Given the description of an element on the screen output the (x, y) to click on. 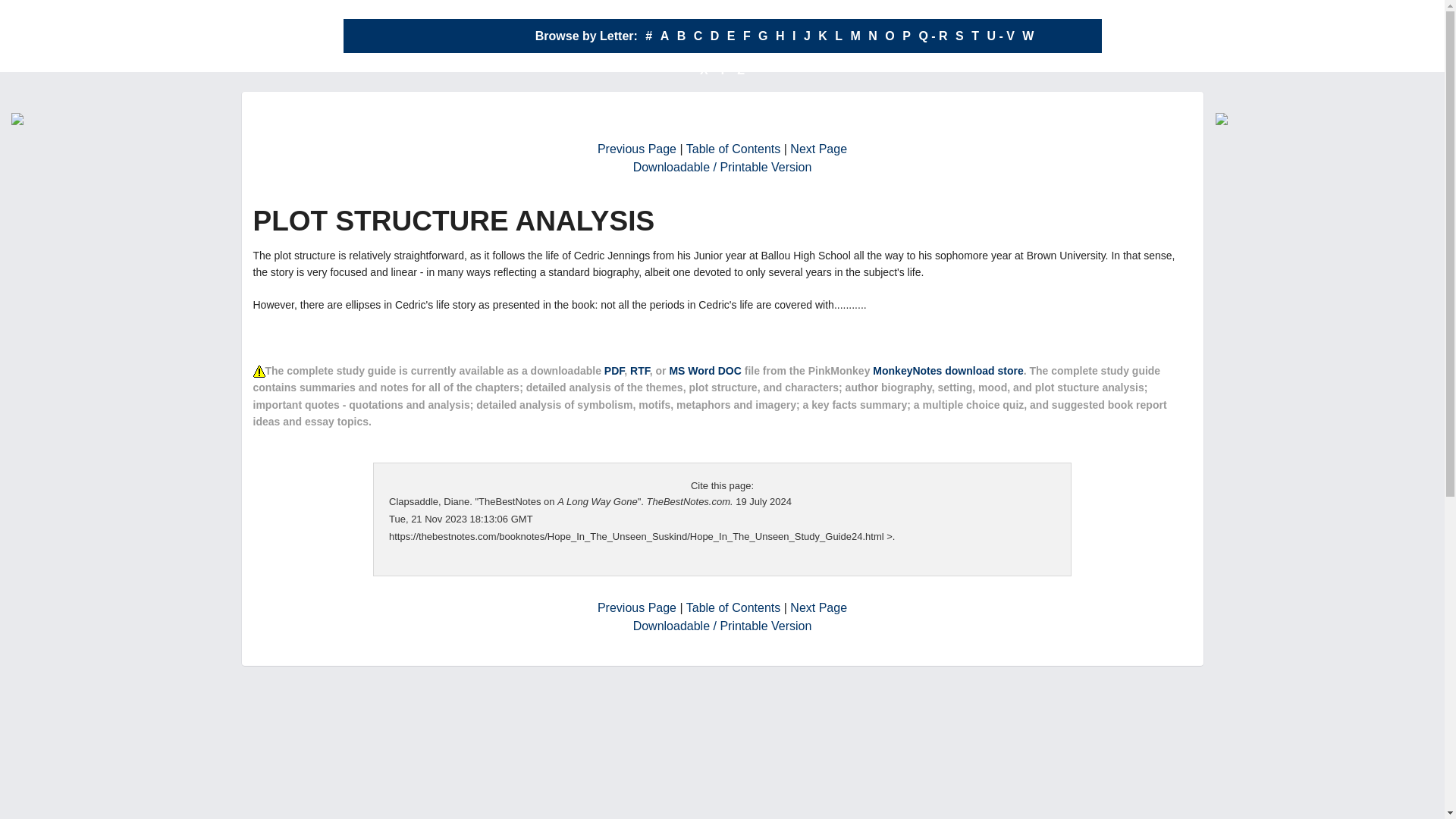
X - Y - Z (722, 69)
U - V (1000, 35)
Q - R (932, 35)
